Given the description of an element on the screen output the (x, y) to click on. 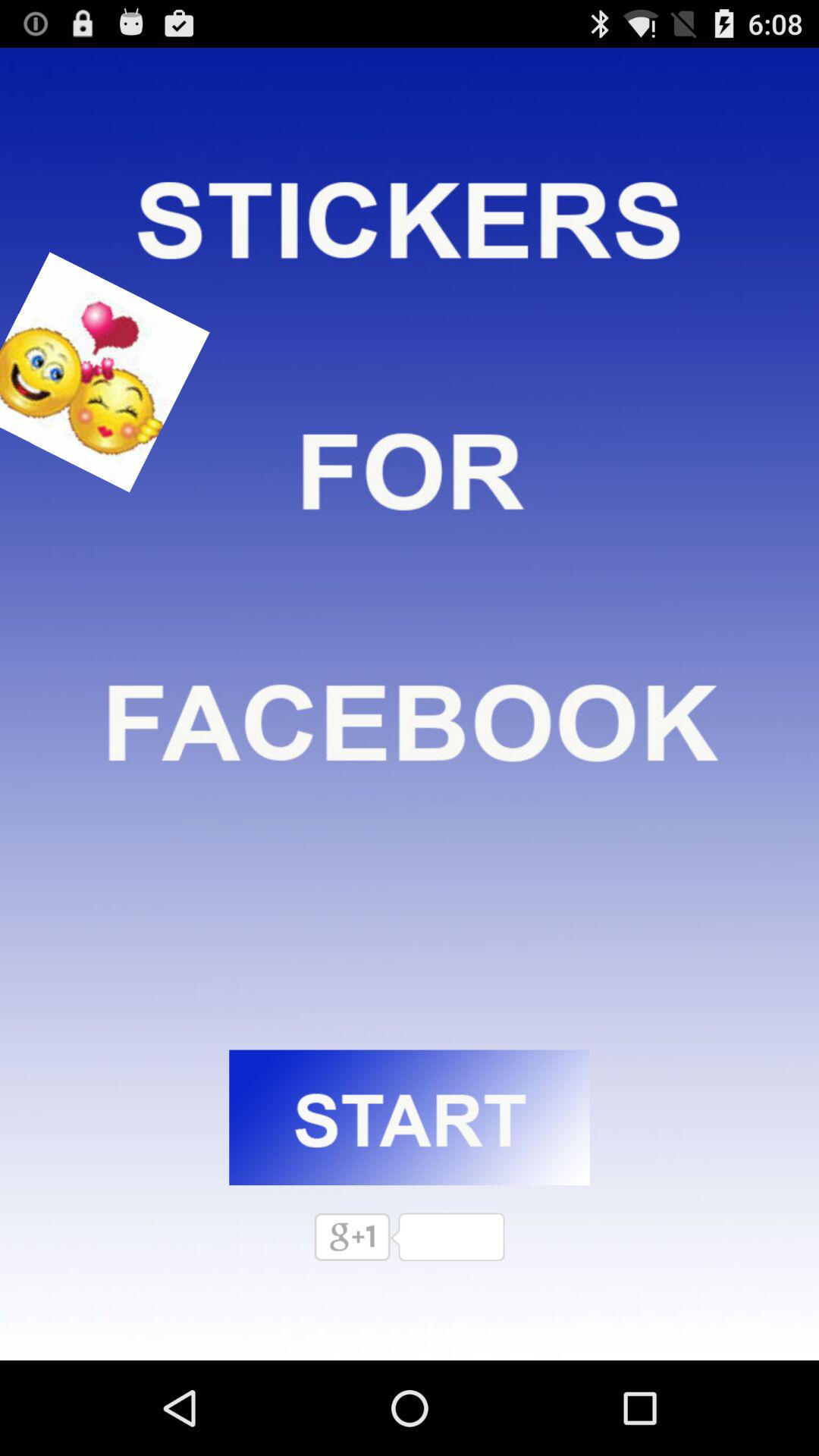
start (409, 1117)
